Given the description of an element on the screen output the (x, y) to click on. 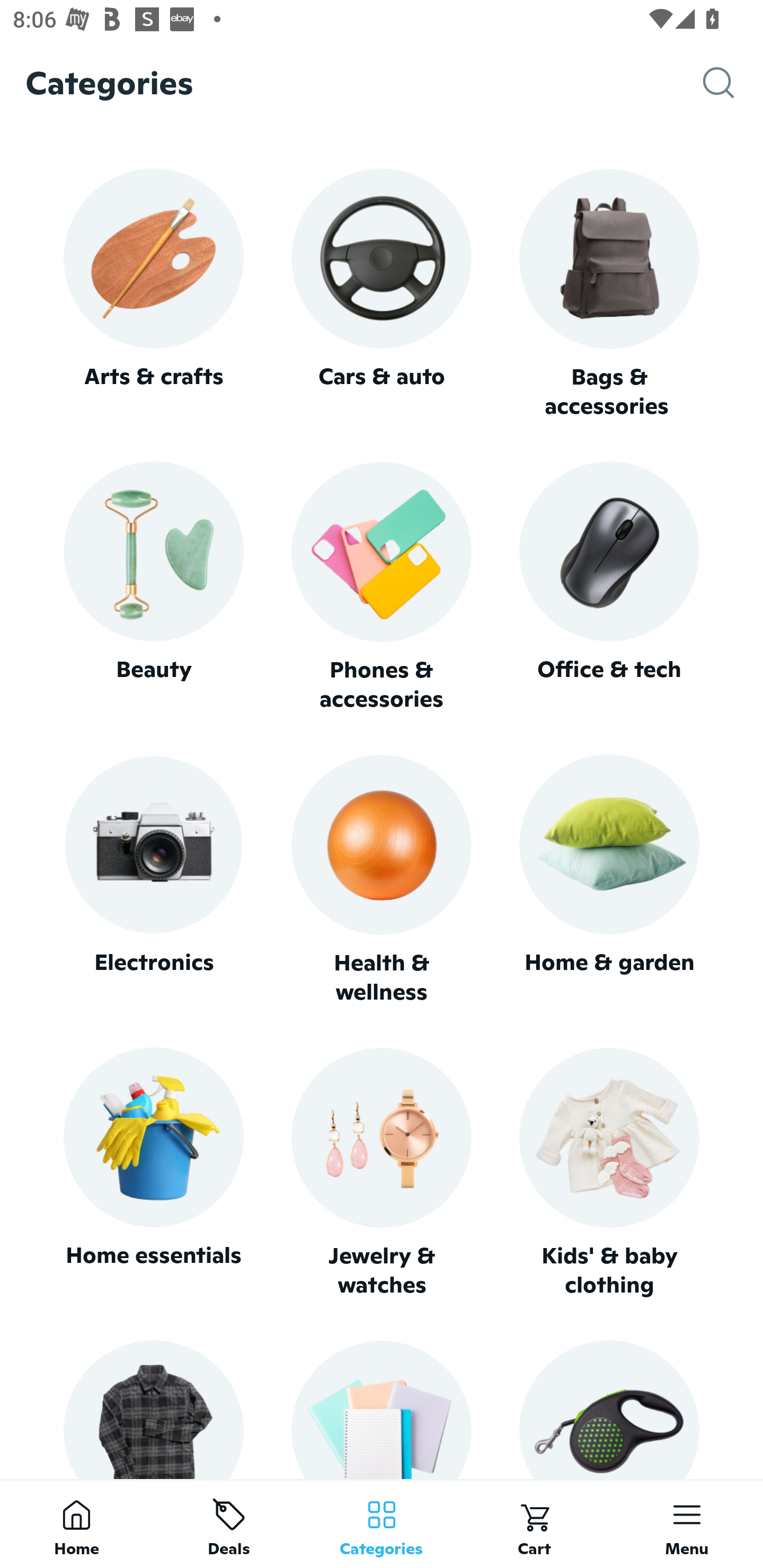
Search (732, 82)
Arts & crafts (153, 293)
Cars & auto (381, 293)
Bags & accessories  (609, 294)
Beauty (153, 586)
Office & tech (609, 586)
Phones & accessories (381, 587)
Electronics (153, 880)
Home & garden (609, 880)
Health & wellness (381, 880)
Home essentials (153, 1172)
Jewelry & watches (381, 1172)
Kids' & baby clothing (609, 1172)
Men's clothing (153, 1409)
Pet supplies (609, 1409)
Office & school supplies (381, 1409)
Home (76, 1523)
Deals (228, 1523)
Categories (381, 1523)
Cart (533, 1523)
Menu (686, 1523)
